Given the description of an element on the screen output the (x, y) to click on. 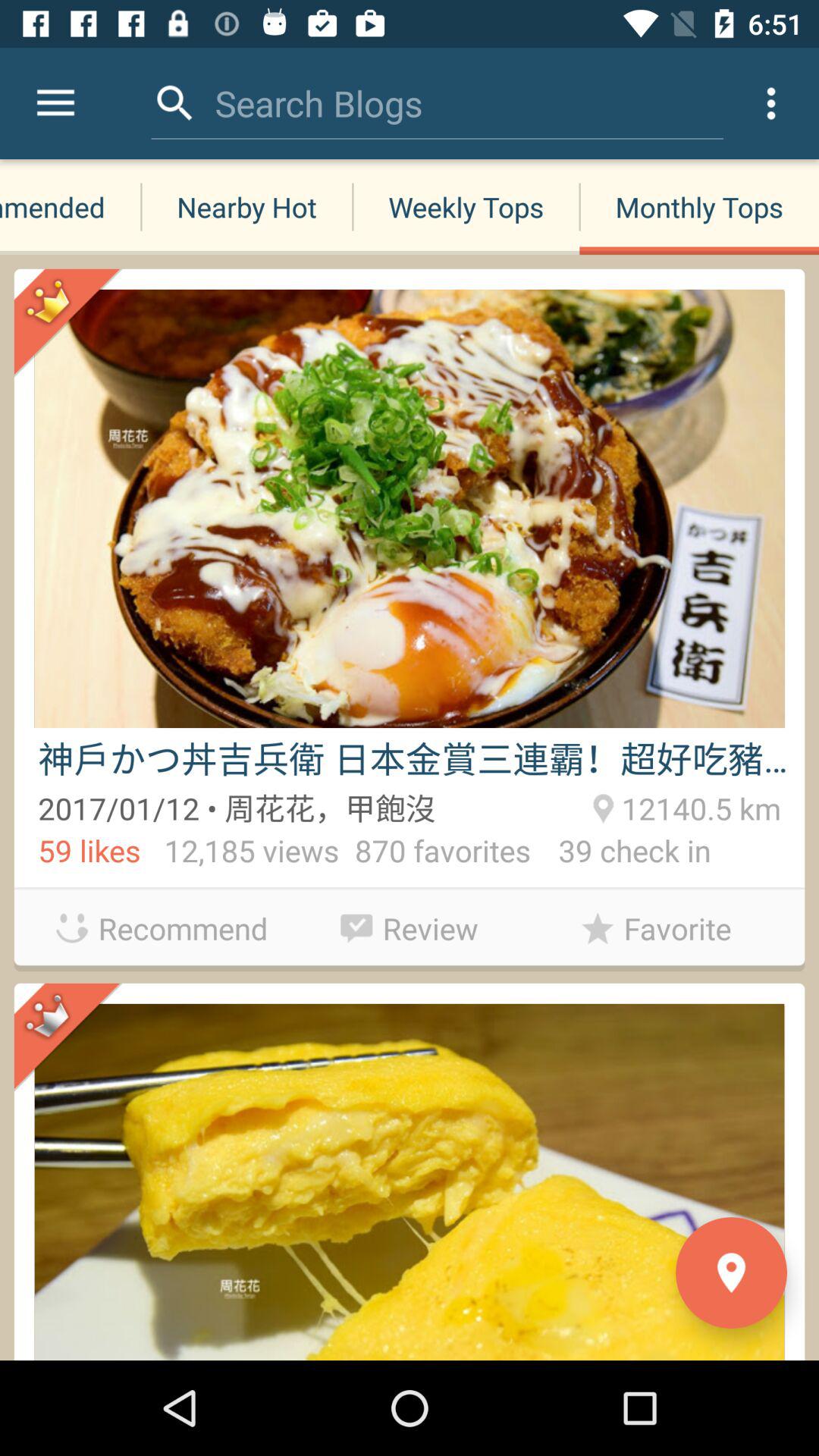
click the icon next to 2017 01 12 icon (698, 806)
